Given the description of an element on the screen output the (x, y) to click on. 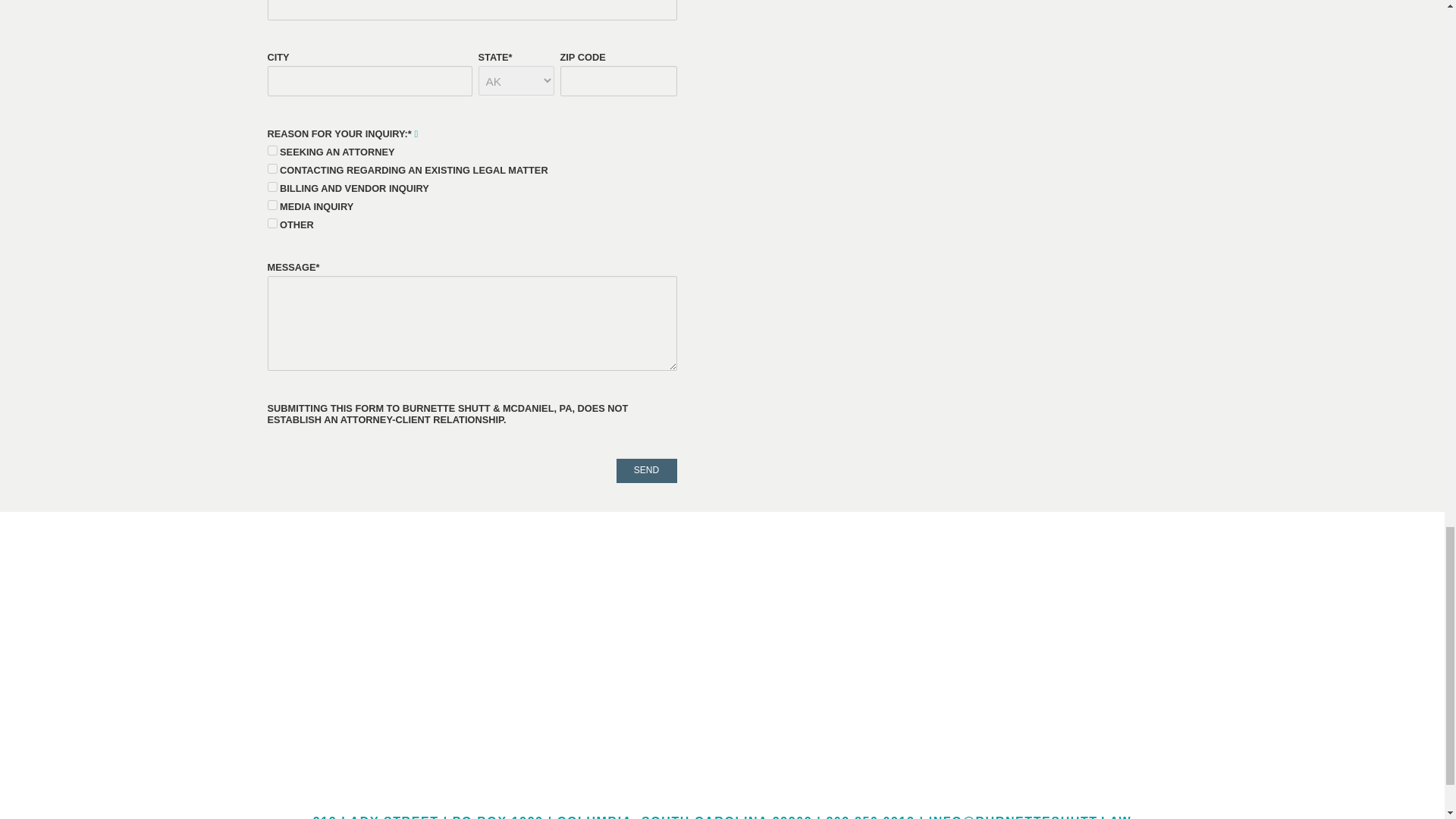
Billing and Vendor inquiry (271, 186)
Other (271, 223)
Seeking an attorney (271, 150)
Media inquiry (271, 204)
Send (646, 470)
Contacting regarding an existing legal matter (271, 168)
